Given the description of an element on the screen output the (x, y) to click on. 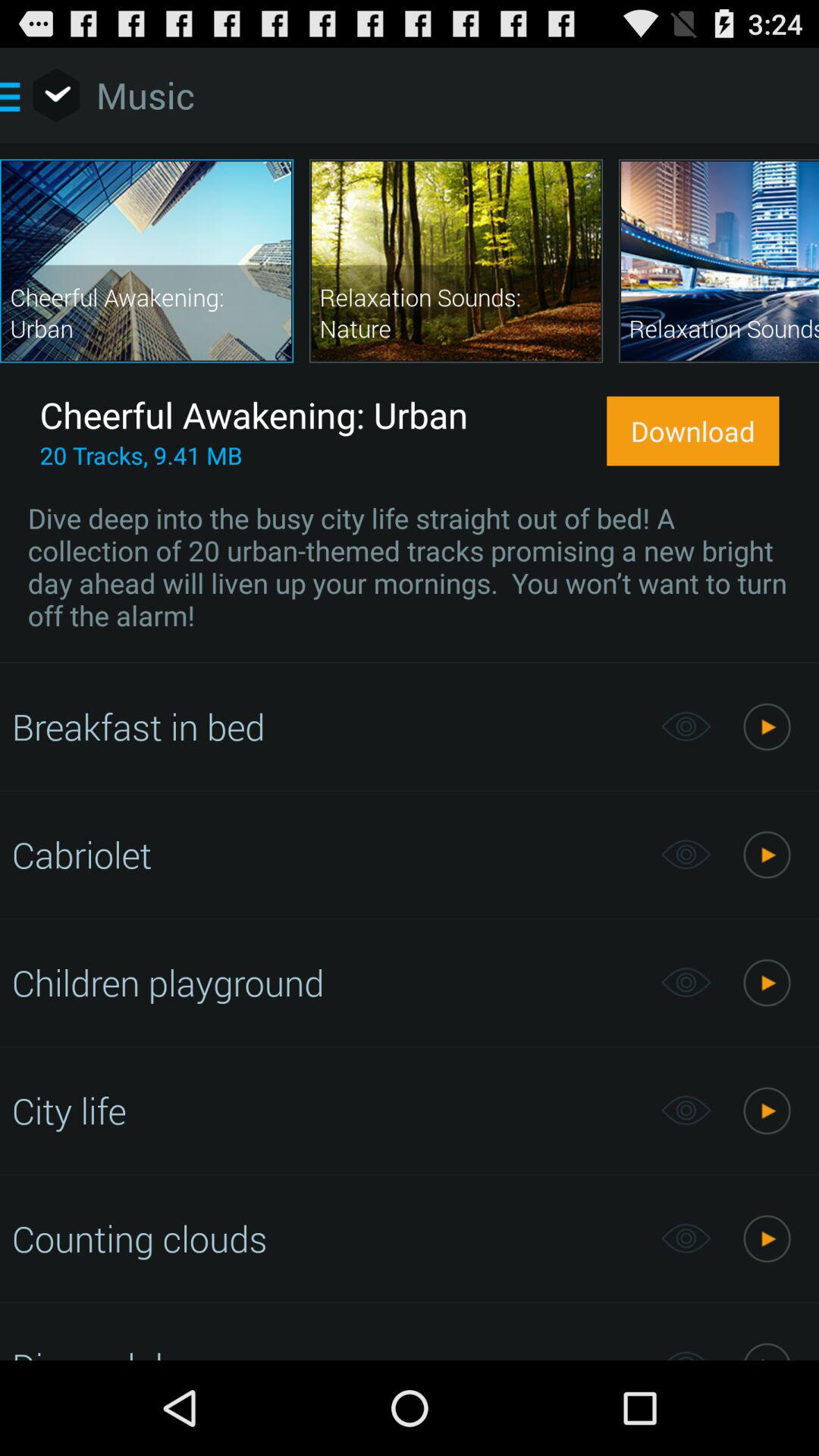
launch icon below the 20 tracks 9 (409, 566)
